Given the description of an element on the screen output the (x, y) to click on. 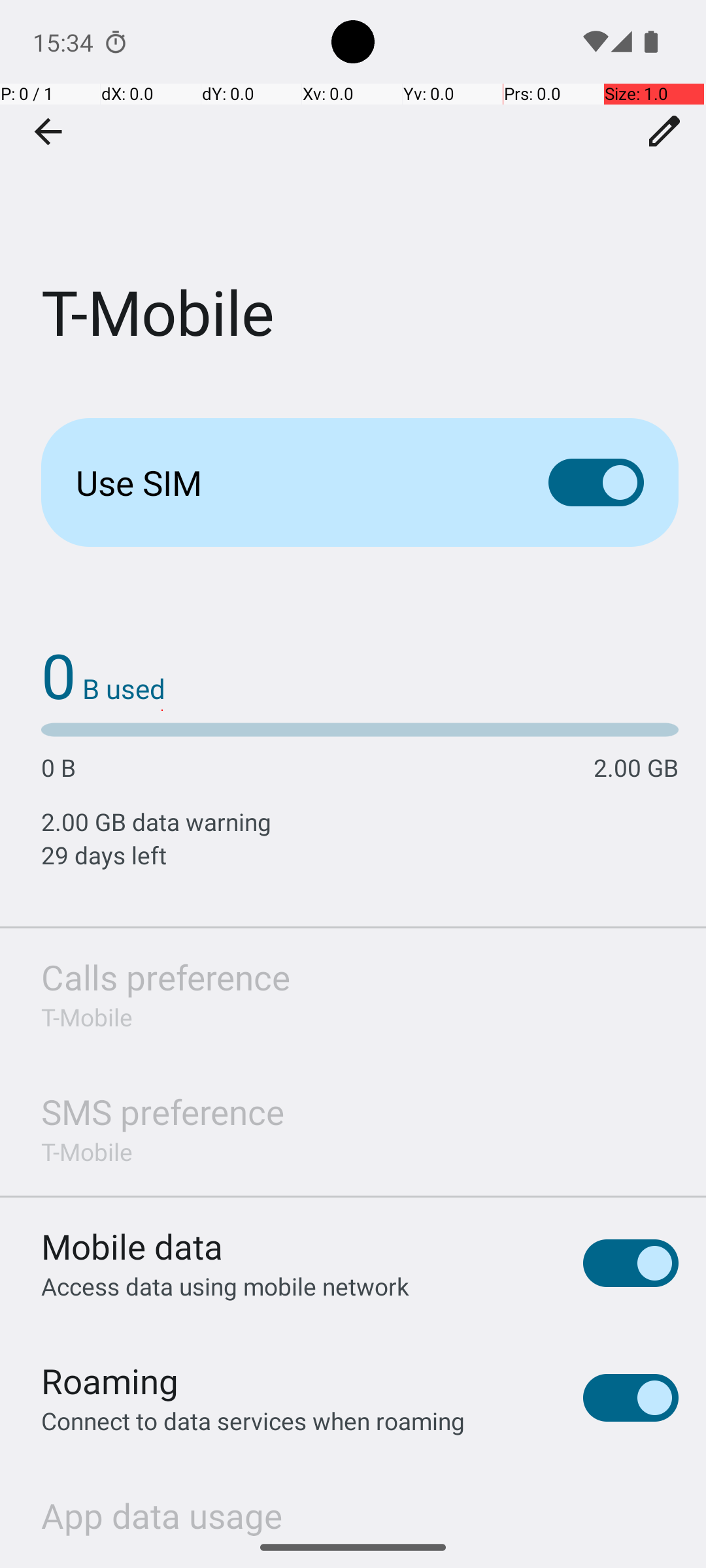
SIM name & color Element type: android.widget.TextView (664, 131)
Use SIM Element type: android.widget.TextView (291, 482)
0 B used Element type: android.widget.TextView (103, 674)
2.00 GB Element type: android.widget.TextView (635, 767)
2.00 GB data warning Element type: android.widget.TextView (359, 821)
29 days left Element type: android.widget.TextView (359, 854)
Calls preference Element type: android.widget.TextView (165, 976)
SMS preference Element type: android.widget.TextView (163, 1111)
Mobile data Element type: android.widget.TextView (131, 1246)
Access data using mobile network Element type: android.widget.TextView (225, 1285)
Roaming Element type: android.widget.TextView (109, 1380)
Connect to data services when roaming Element type: android.widget.TextView (252, 1420)
App data usage Element type: android.widget.TextView (161, 1509)
